Given the description of an element on the screen output the (x, y) to click on. 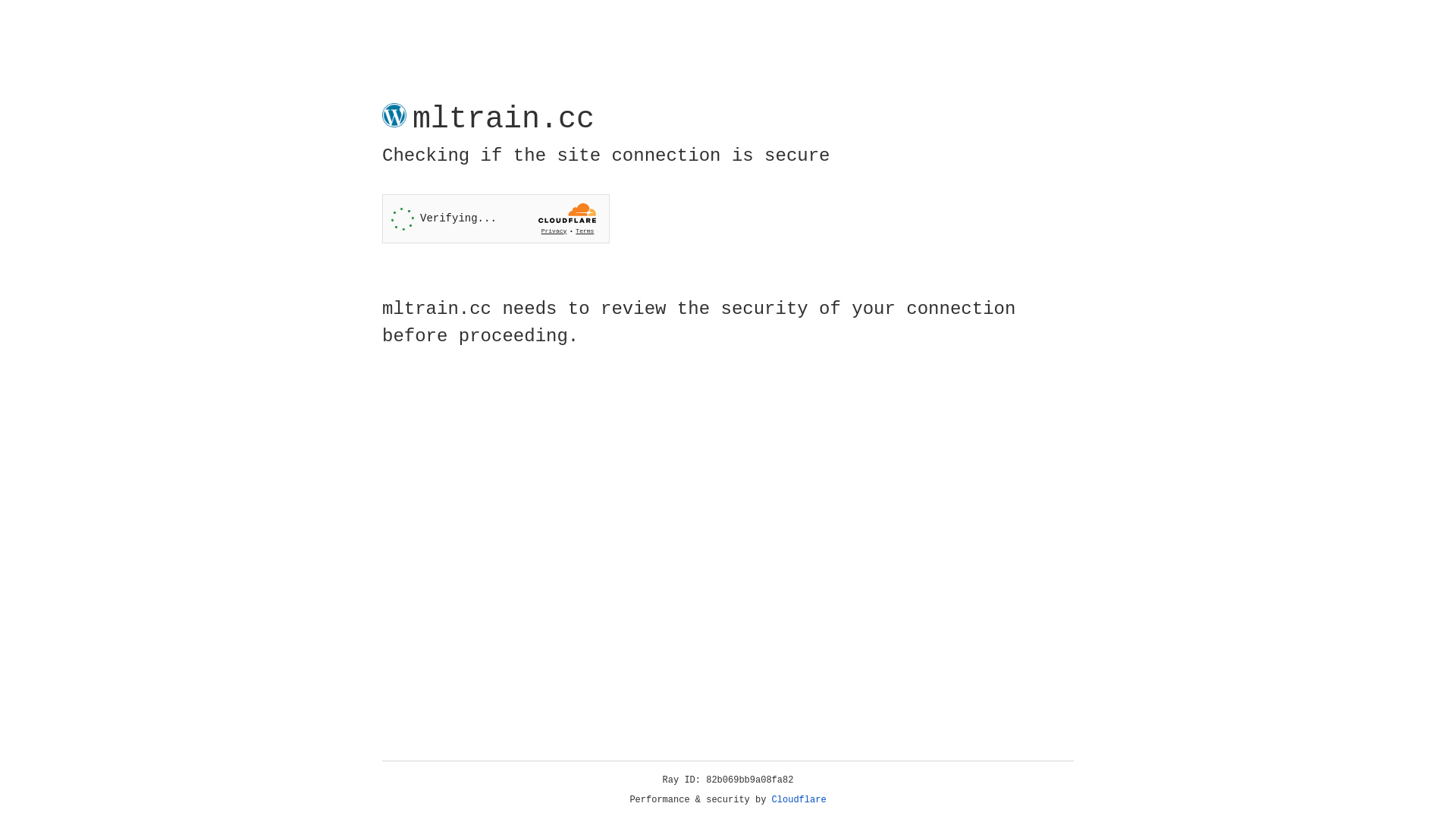
Widget containing a Cloudflare security challenge Element type: hover (495, 218)
Cloudflare Element type: text (798, 799)
